Given the description of an element on the screen output the (x, y) to click on. 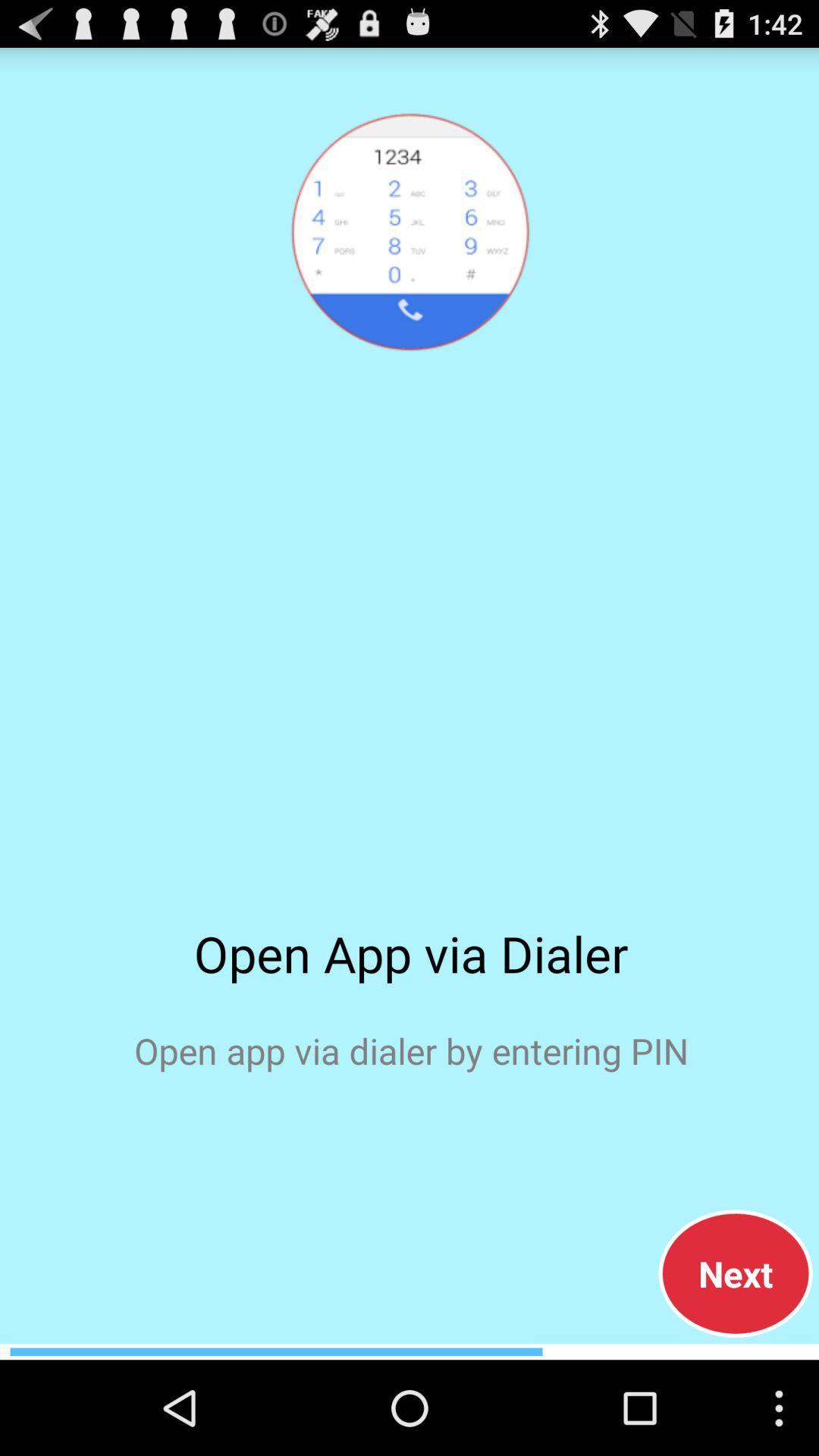
press the next at the bottom right corner (735, 1273)
